Given the description of an element on the screen output the (x, y) to click on. 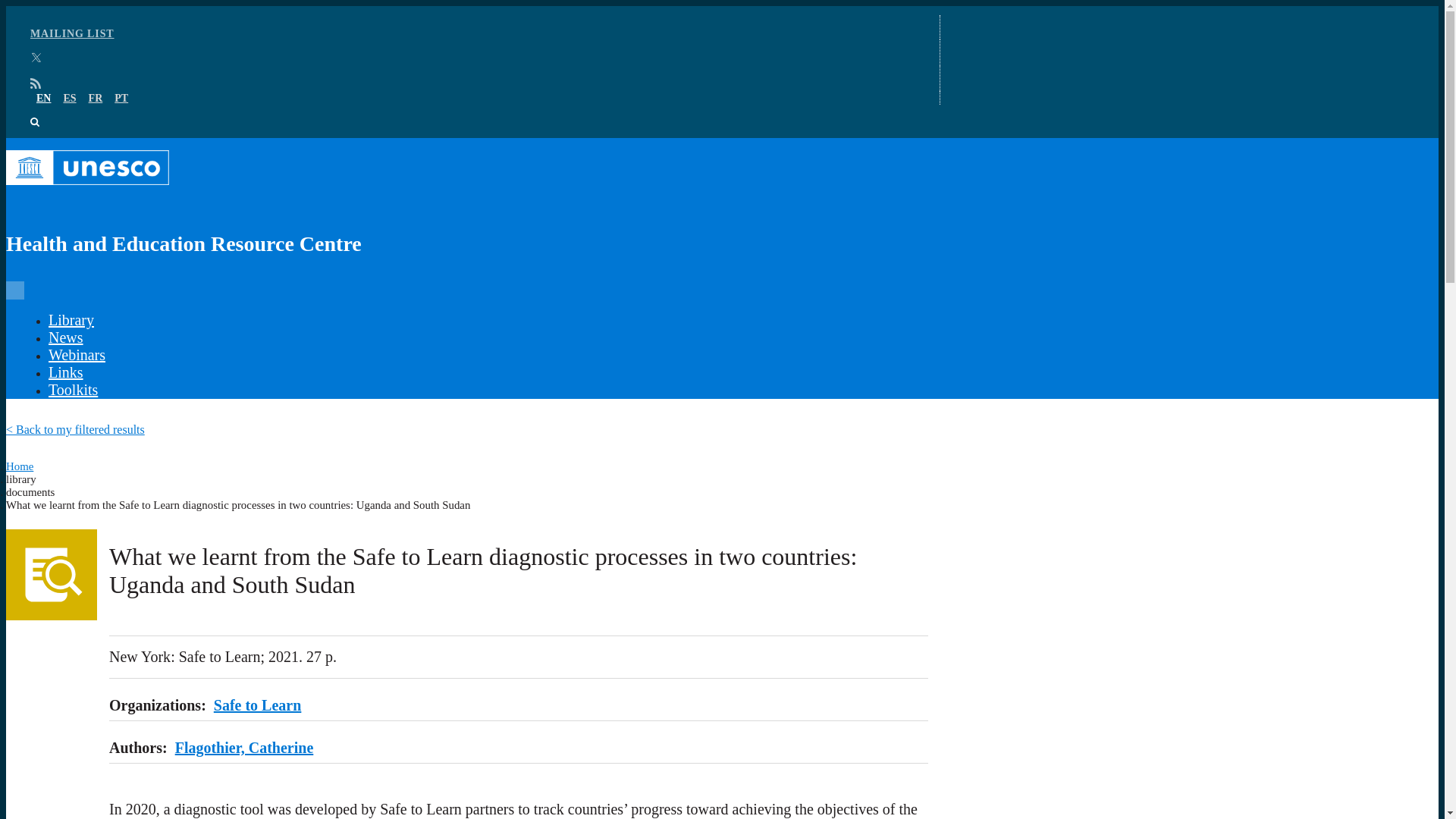
Webinars (76, 354)
News (65, 337)
Flagothier, Catherine (244, 747)
FR (95, 98)
Skip to main content (722, 7)
EN (43, 98)
Library (71, 320)
Safe to Learn (257, 704)
MAILING LIST (72, 33)
ES (68, 98)
Home (19, 466)
PT (121, 98)
Toolkits (72, 389)
Health and Education Resource Centre (466, 209)
Links (65, 371)
